Given the description of an element on the screen output the (x, y) to click on. 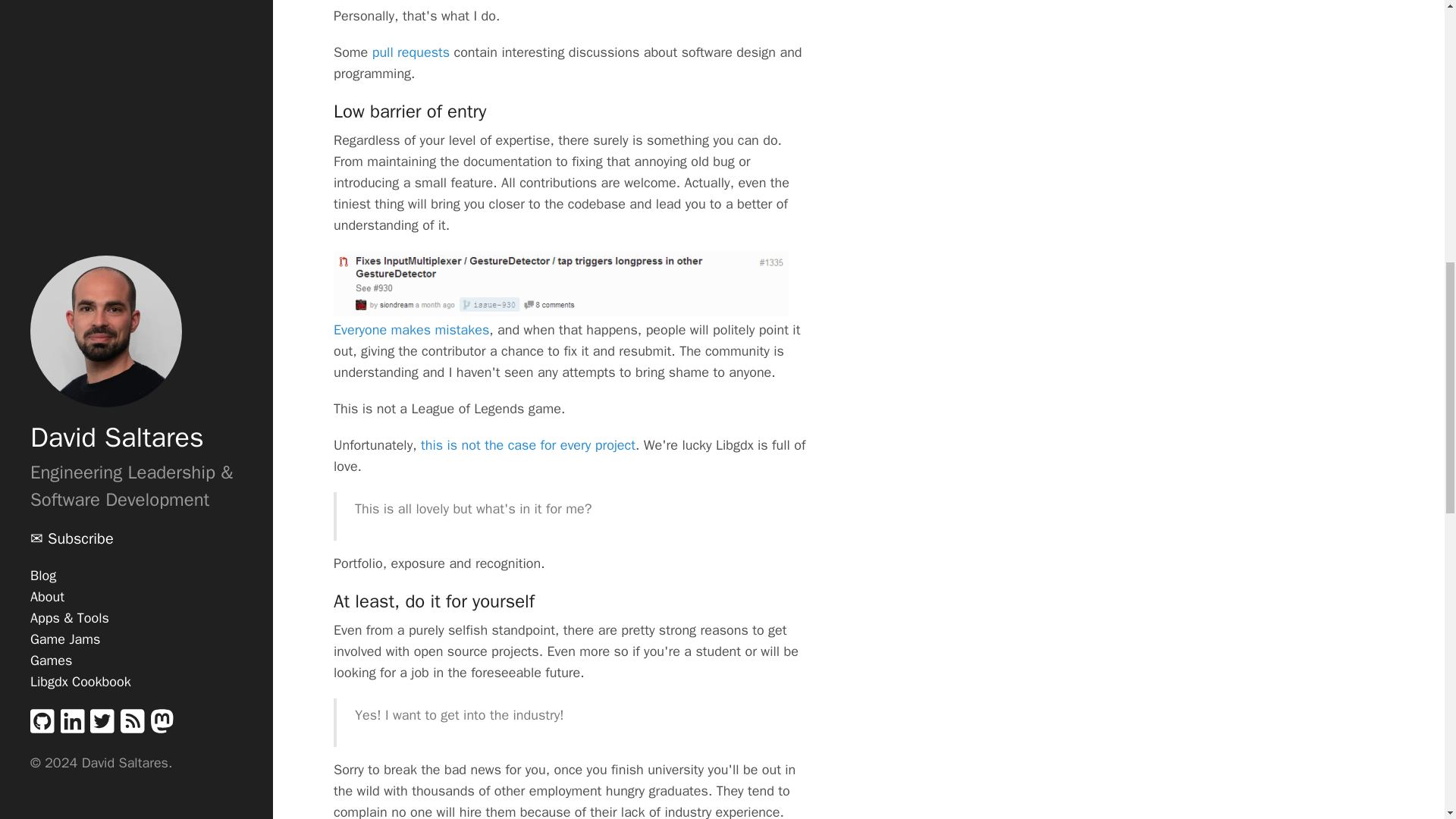
pull requests (410, 52)
Everyone makes mistakes (411, 329)
this is not the case for every project (527, 444)
